Given the description of an element on the screen output the (x, y) to click on. 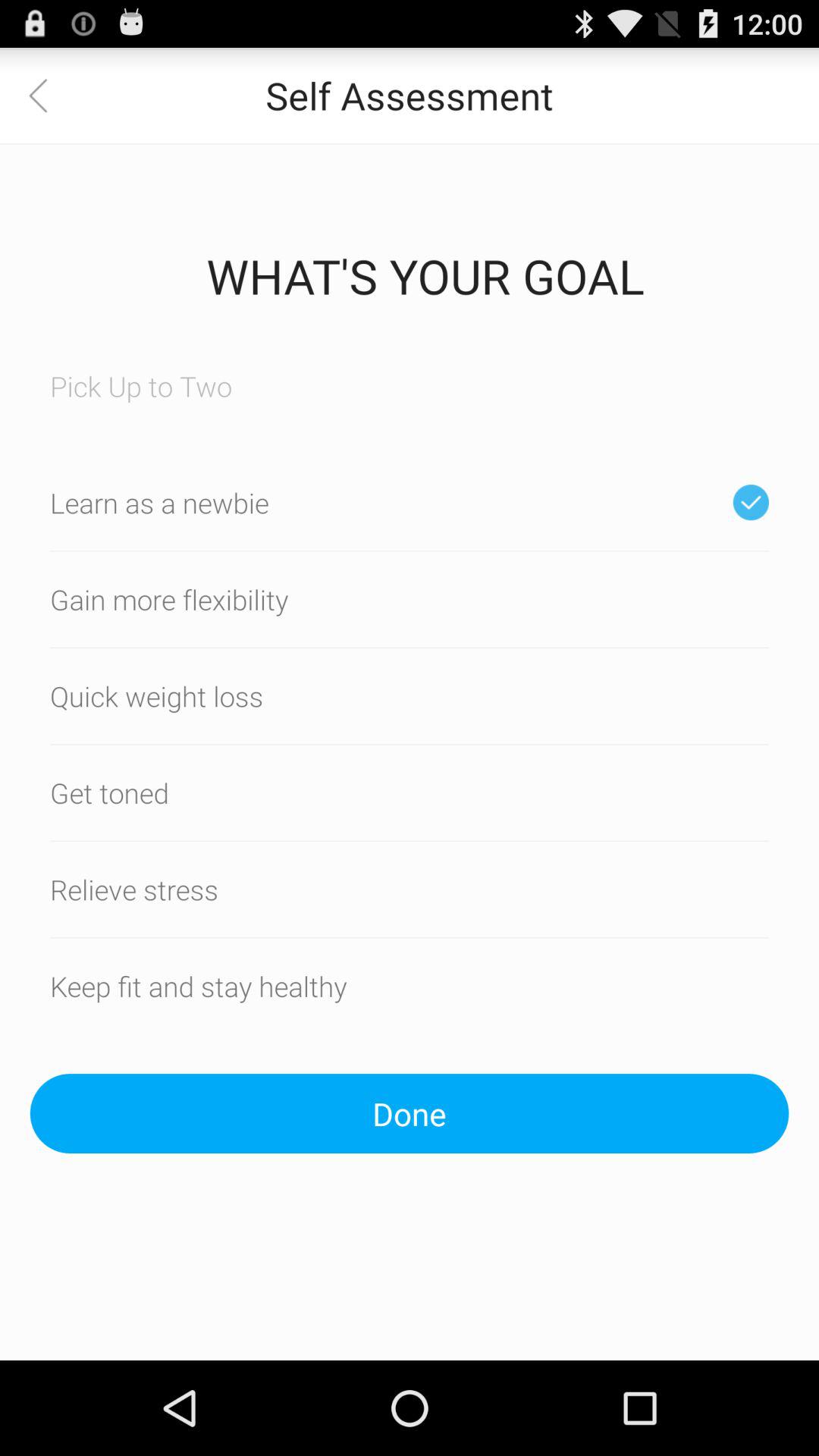
turn on app to the left of self assessment (47, 95)
